Given the description of an element on the screen output the (x, y) to click on. 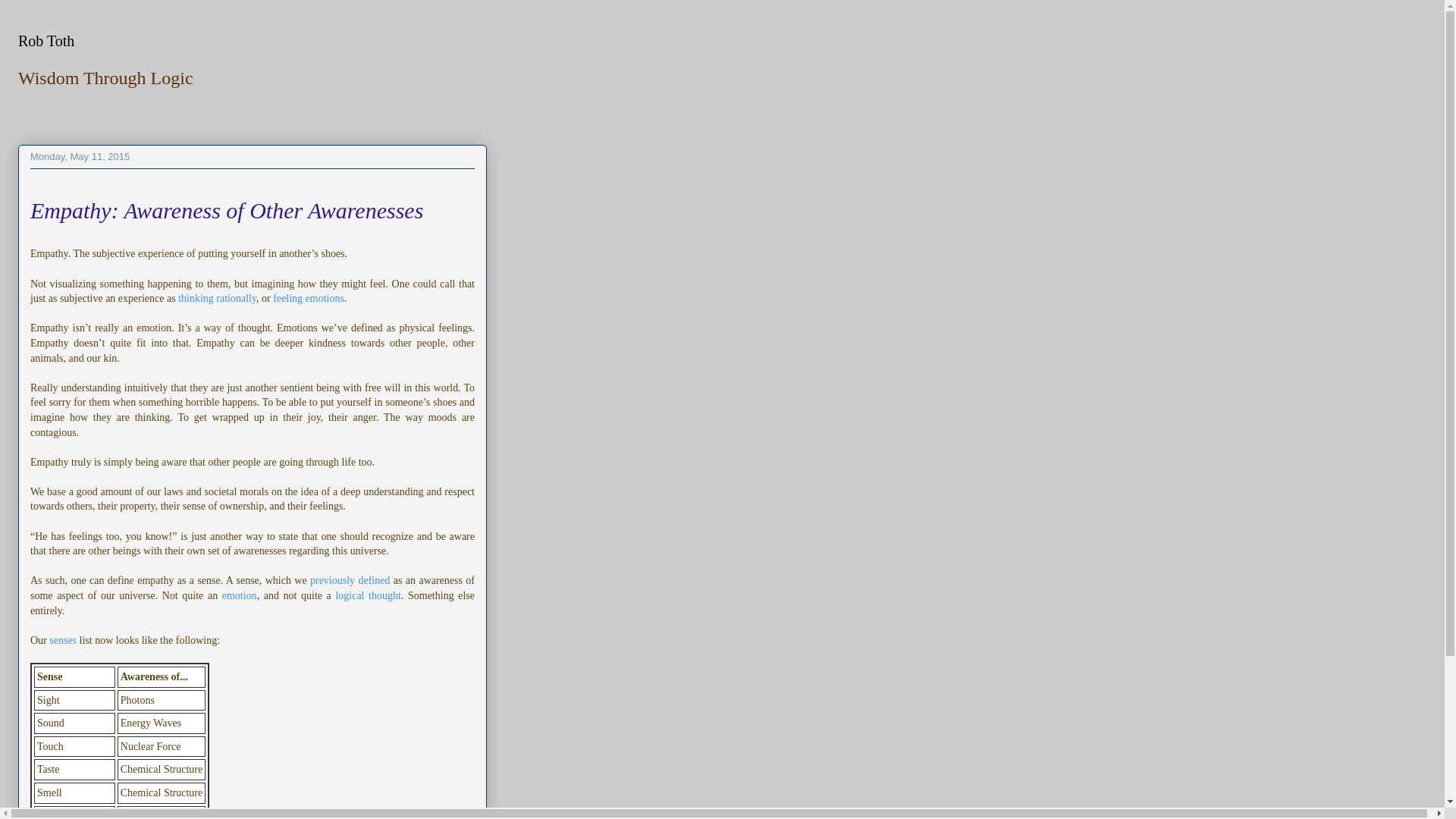
Rob Toth (45, 40)
thinking rationally (216, 297)
emotion (239, 595)
Empathy: Awareness of Other Awarenesses (226, 210)
logical thought (367, 595)
senses (63, 640)
previously defined (350, 580)
feeling emotions (308, 297)
